Given the description of an element on the screen output the (x, y) to click on. 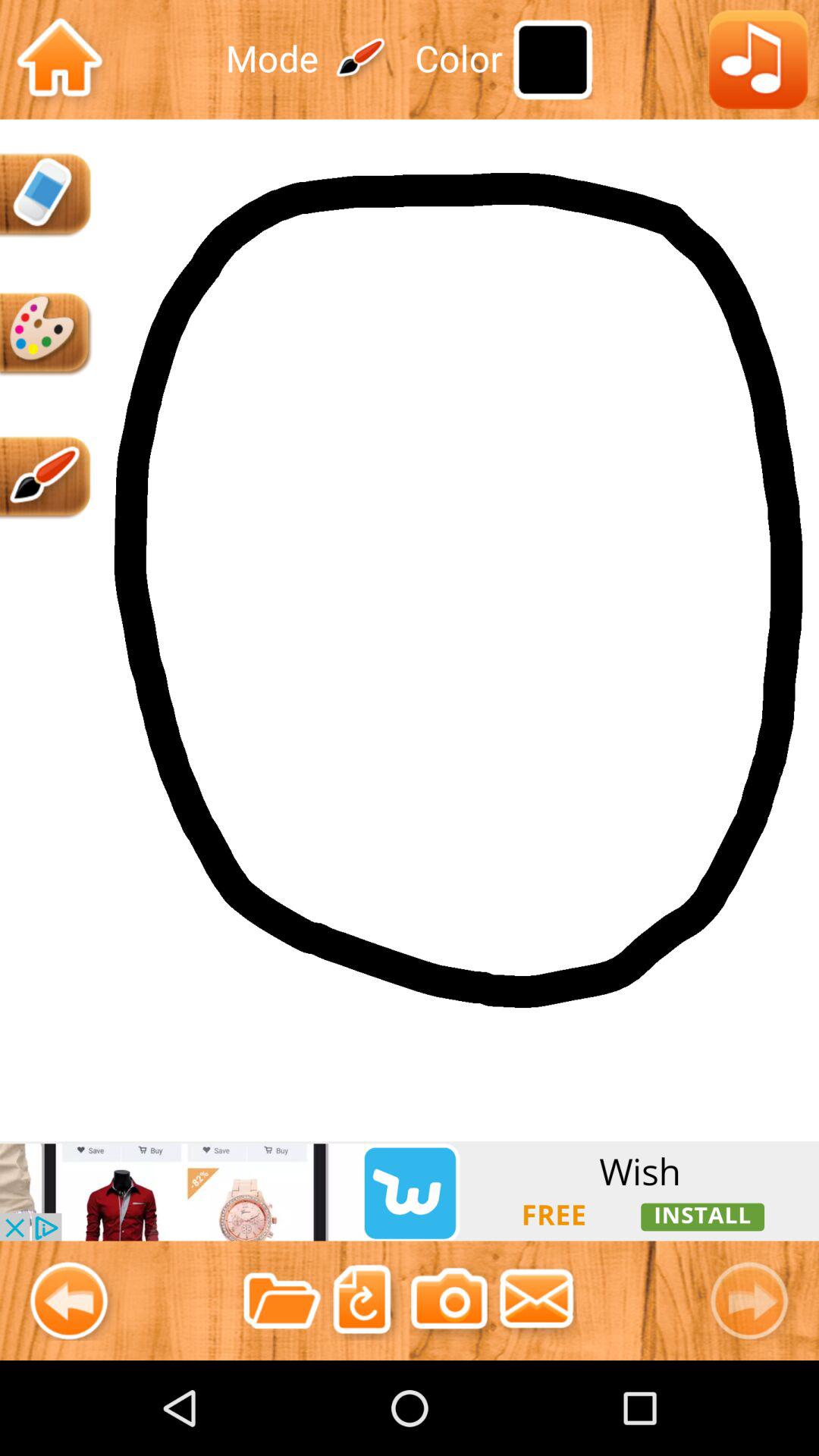
go forward (755, 1300)
